Given the description of an element on the screen output the (x, y) to click on. 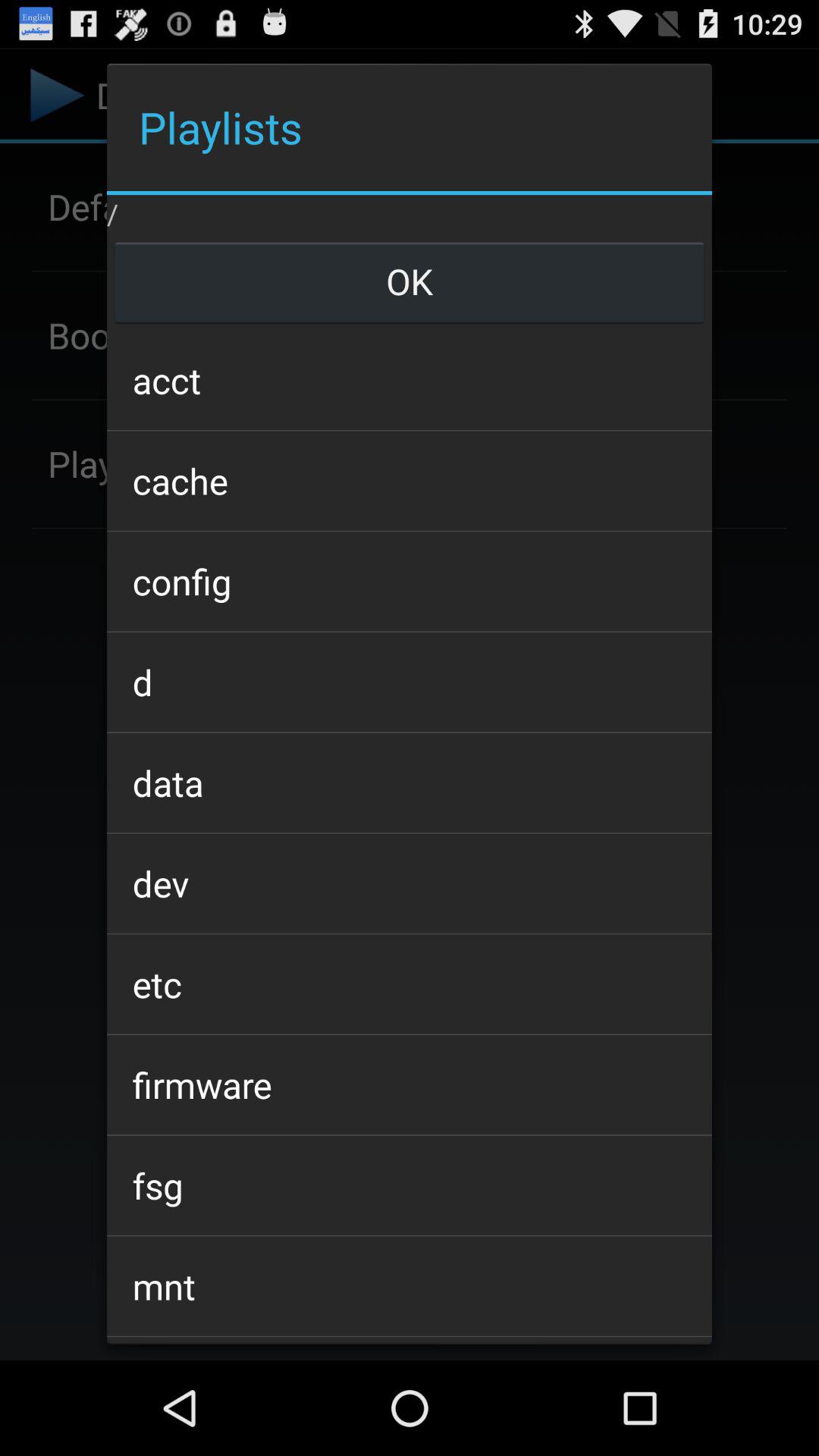
press icon below cache (409, 581)
